Given the description of an element on the screen output the (x, y) to click on. 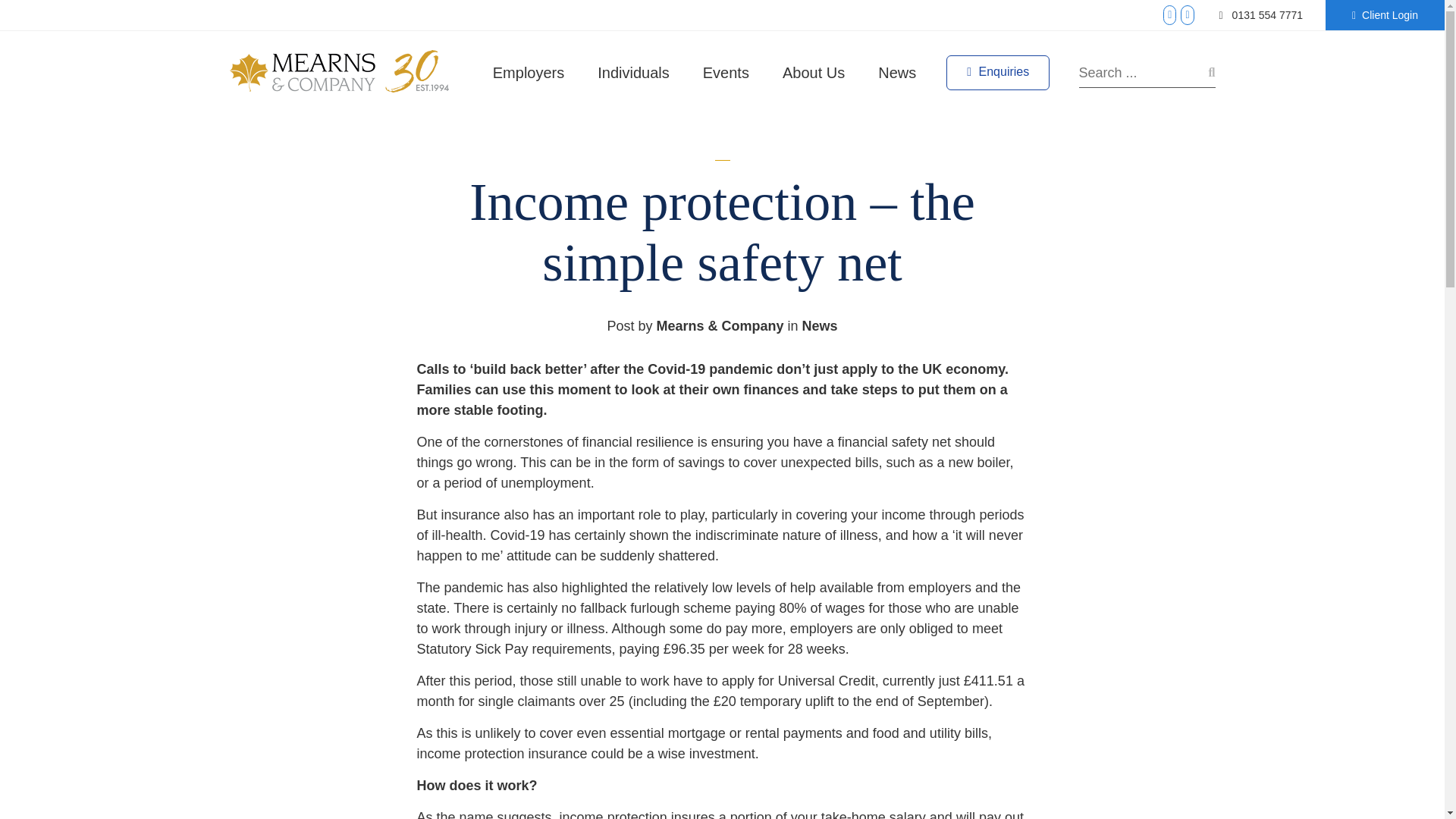
Search for: (1146, 72)
News (820, 325)
Individuals (633, 72)
0131 554 7771 (1261, 15)
Events (725, 72)
About Us (813, 72)
News (897, 72)
Enquiries (997, 72)
Employers (528, 72)
